Given the description of an element on the screen output the (x, y) to click on. 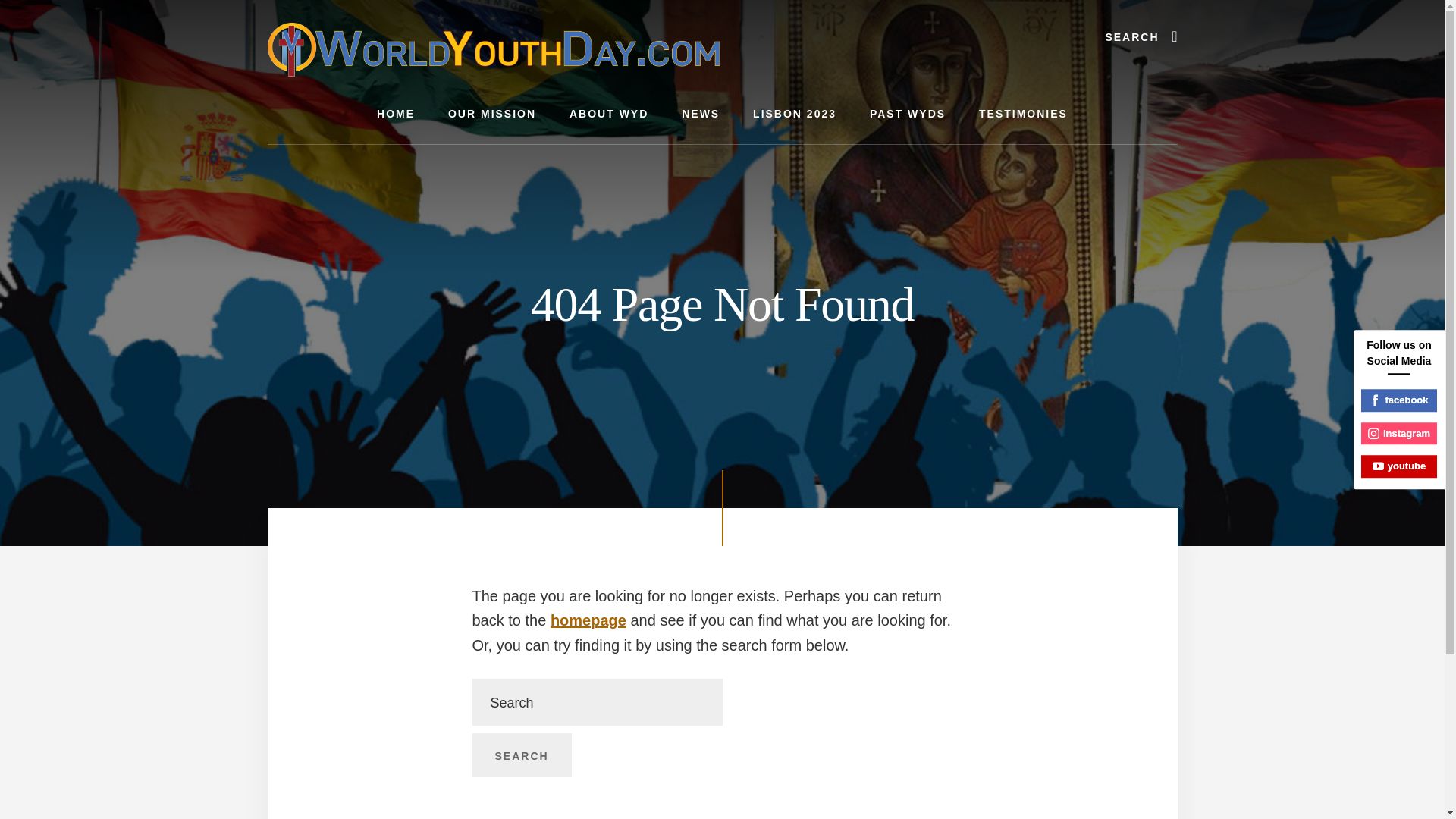
OUR MISSION (491, 114)
instagram (1399, 433)
PAST WYDS (907, 114)
homepage (588, 619)
NEWS (700, 114)
TESTIMONIES (1023, 114)
Search (520, 755)
youtube (1399, 466)
ABOUT WYD (608, 114)
facebook (1399, 400)
HOME (395, 114)
Search (520, 755)
